Given the description of an element on the screen output the (x, y) to click on. 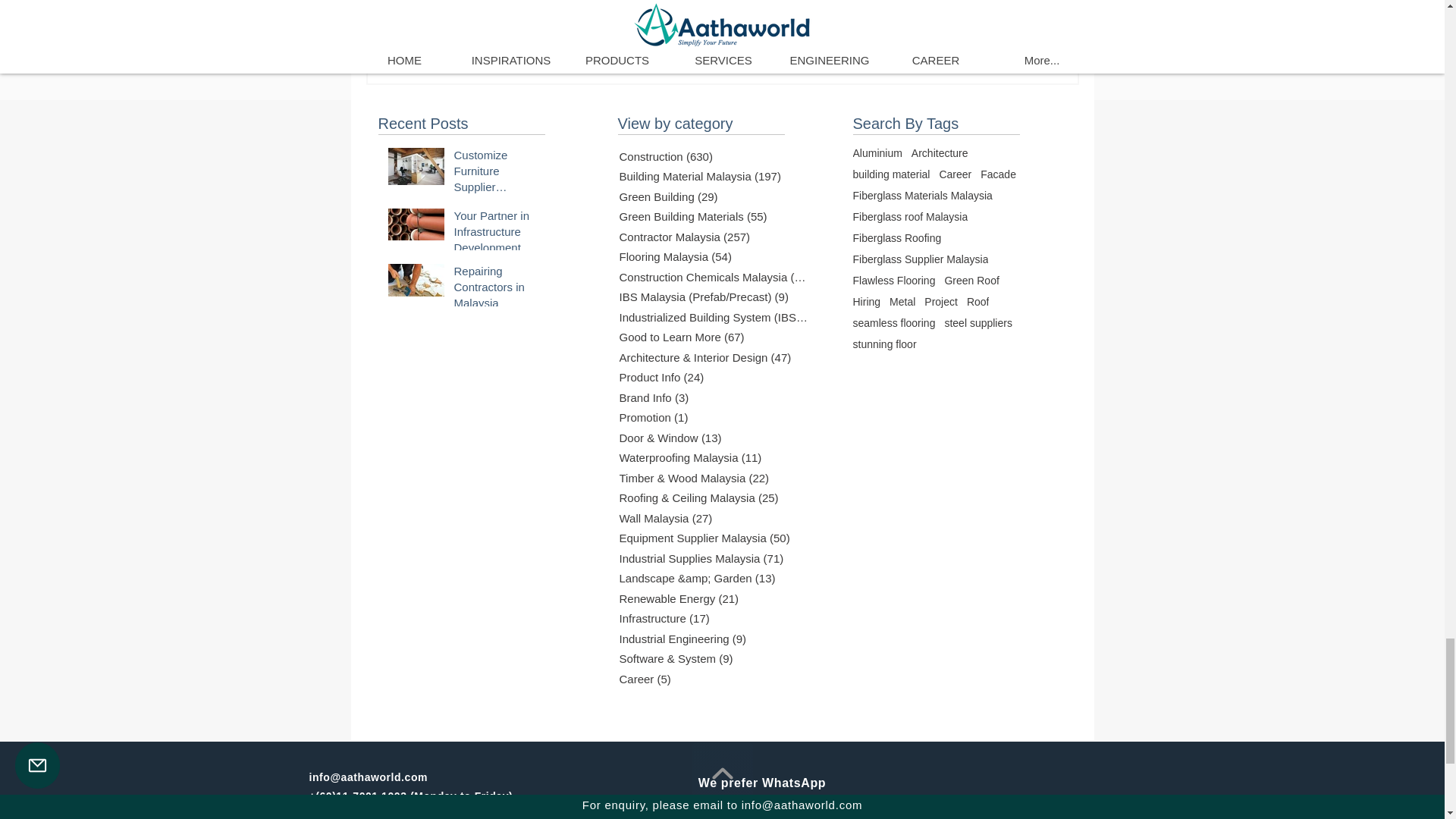
Your Partner in Infrastructure Development (493, 234)
Repairing Contractors in Malaysia (990, 30)
Customize Furniture Supplier Malaysia: (493, 289)
